Given the description of an element on the screen output the (x, y) to click on. 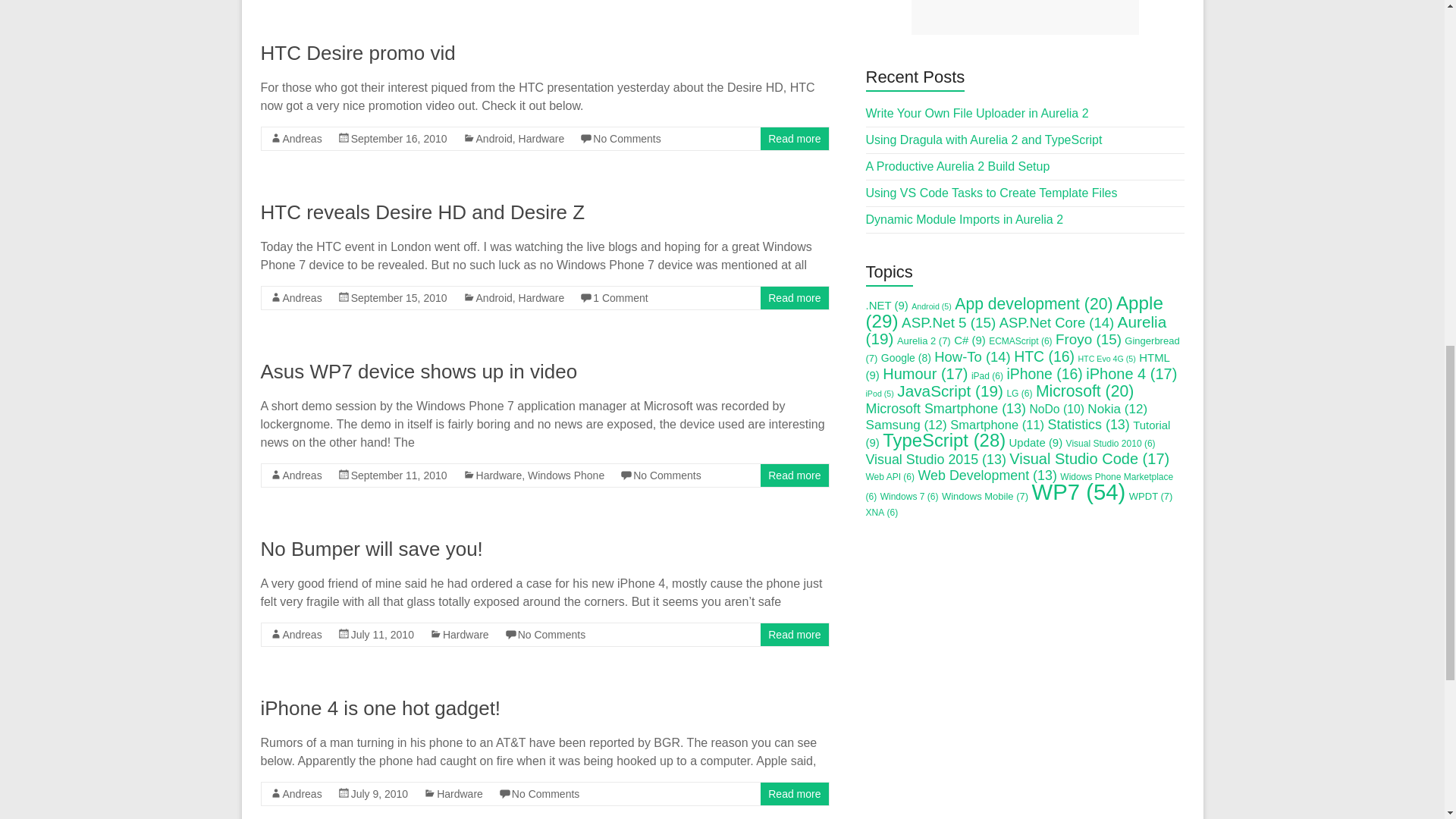
Hardware (541, 138)
Read more (794, 138)
HTC reveals Desire HD and Desire Z (422, 211)
HTC Desire promo vid (357, 52)
12:49 (398, 297)
14:05 (398, 138)
No Comments (626, 138)
Android (494, 138)
HTC Desire promo vid (357, 52)
September 16, 2010 (398, 138)
